Given the description of an element on the screen output the (x, y) to click on. 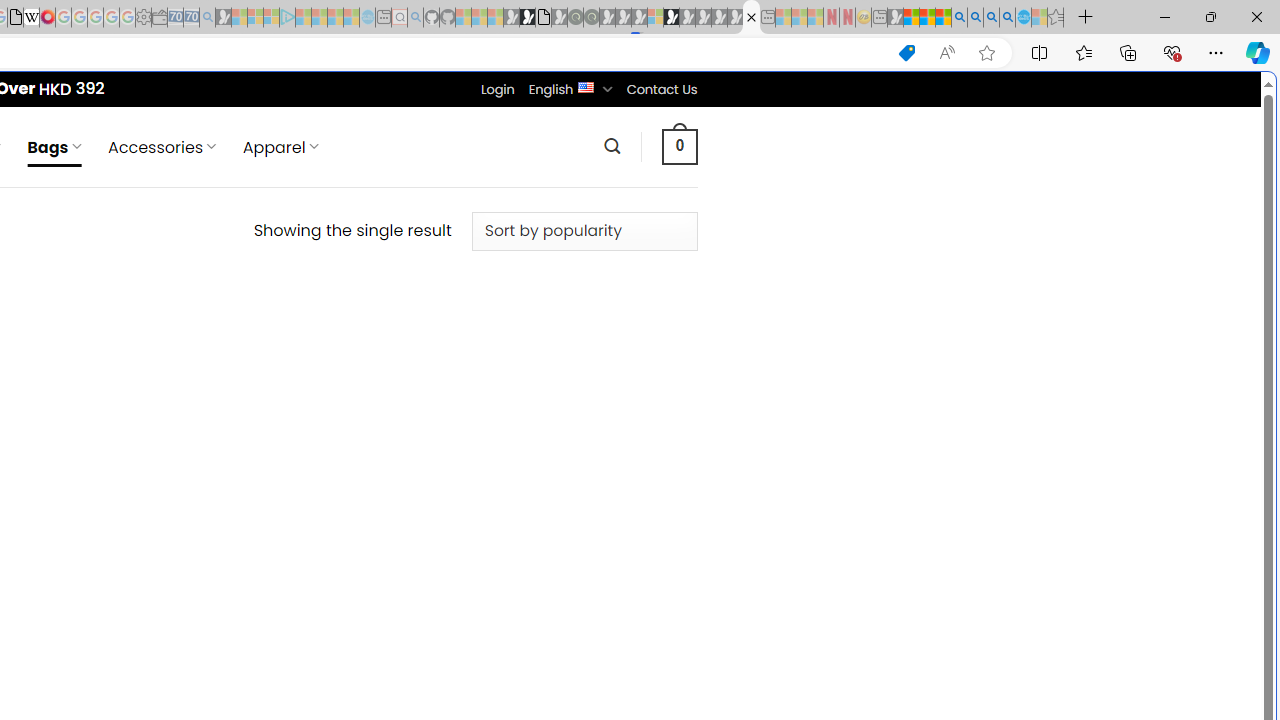
 0  (679, 146)
Login (497, 89)
